Given the description of an element on the screen output the (x, y) to click on. 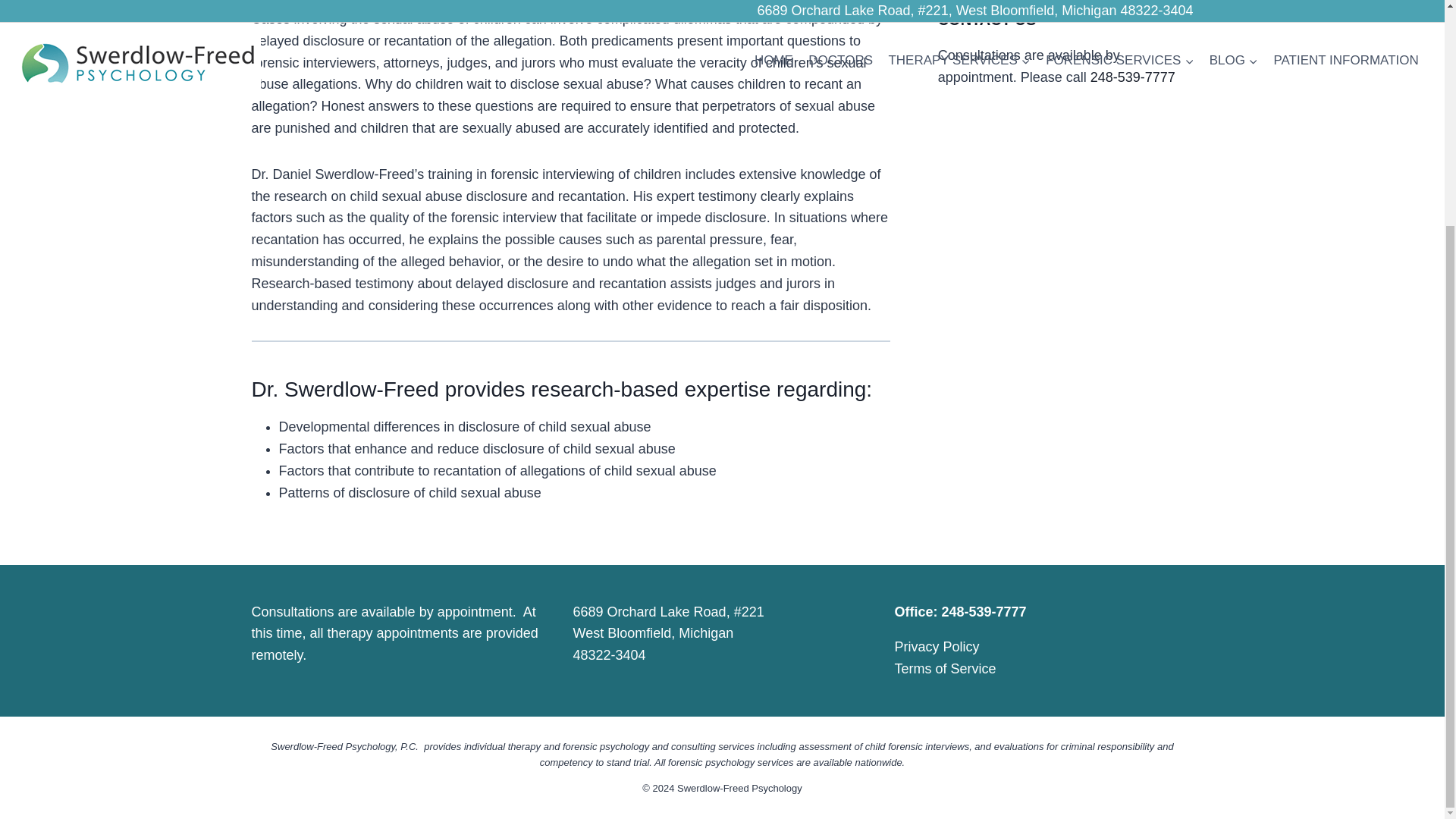
Privacy Policy (937, 646)
248-539-7777 (1132, 77)
Terms of Service (945, 668)
